Given the description of an element on the screen output the (x, y) to click on. 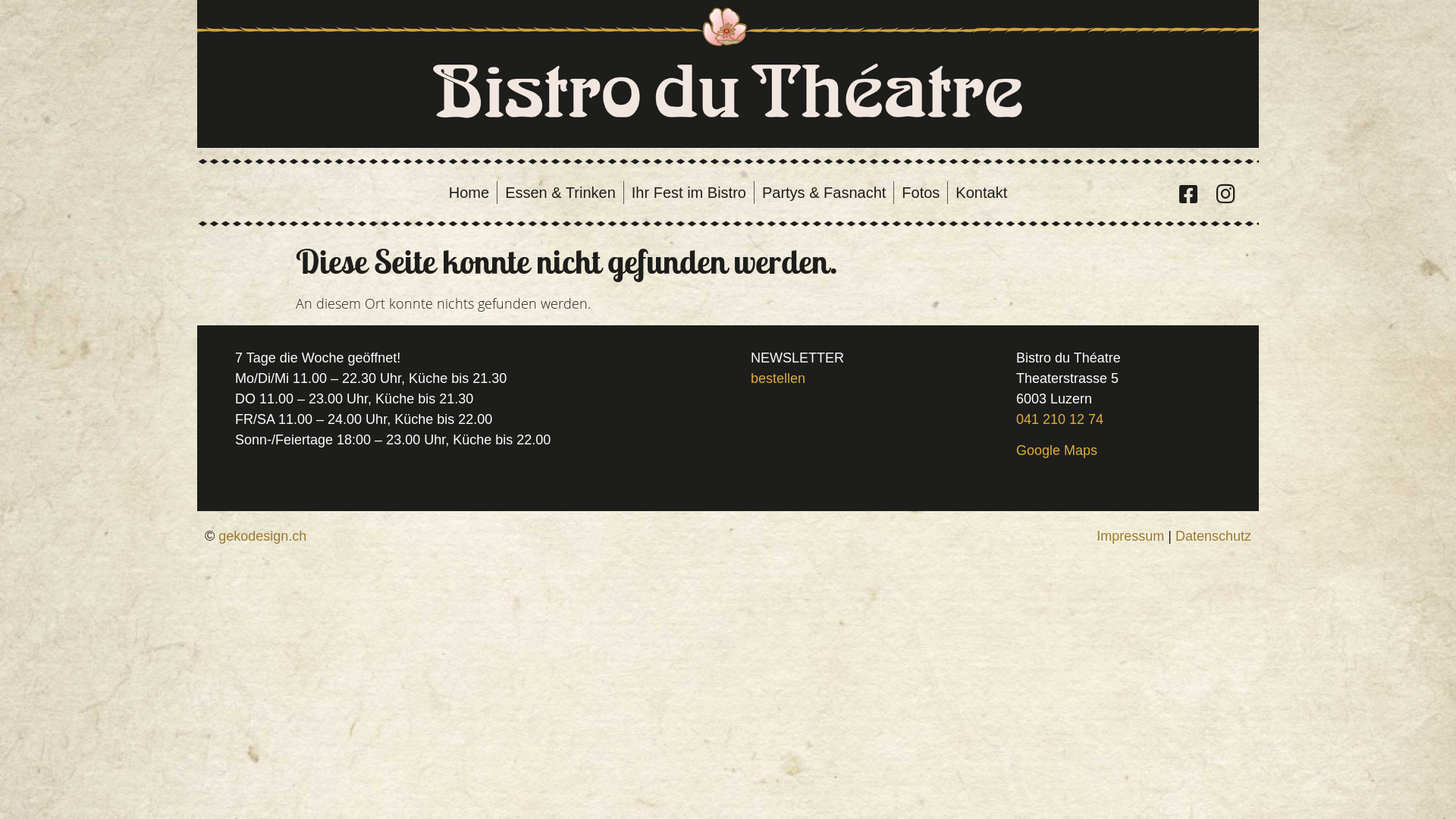
gekodesign.ch Element type: text (262, 535)
bestellen Element type: text (777, 377)
Ihr Fest im Bistro Element type: text (689, 192)
041 210 12 74 Element type: text (1059, 418)
Kontakt Element type: text (980, 192)
Fotos Element type: text (920, 192)
Google Maps Element type: text (1056, 450)
Home Element type: text (469, 192)
Datenschutz Element type: text (1213, 535)
Partys & Fasnacht Element type: text (824, 192)
Impressum Element type: text (1130, 535)
Essen & Trinken Element type: text (560, 192)
